Given the description of an element on the screen output the (x, y) to click on. 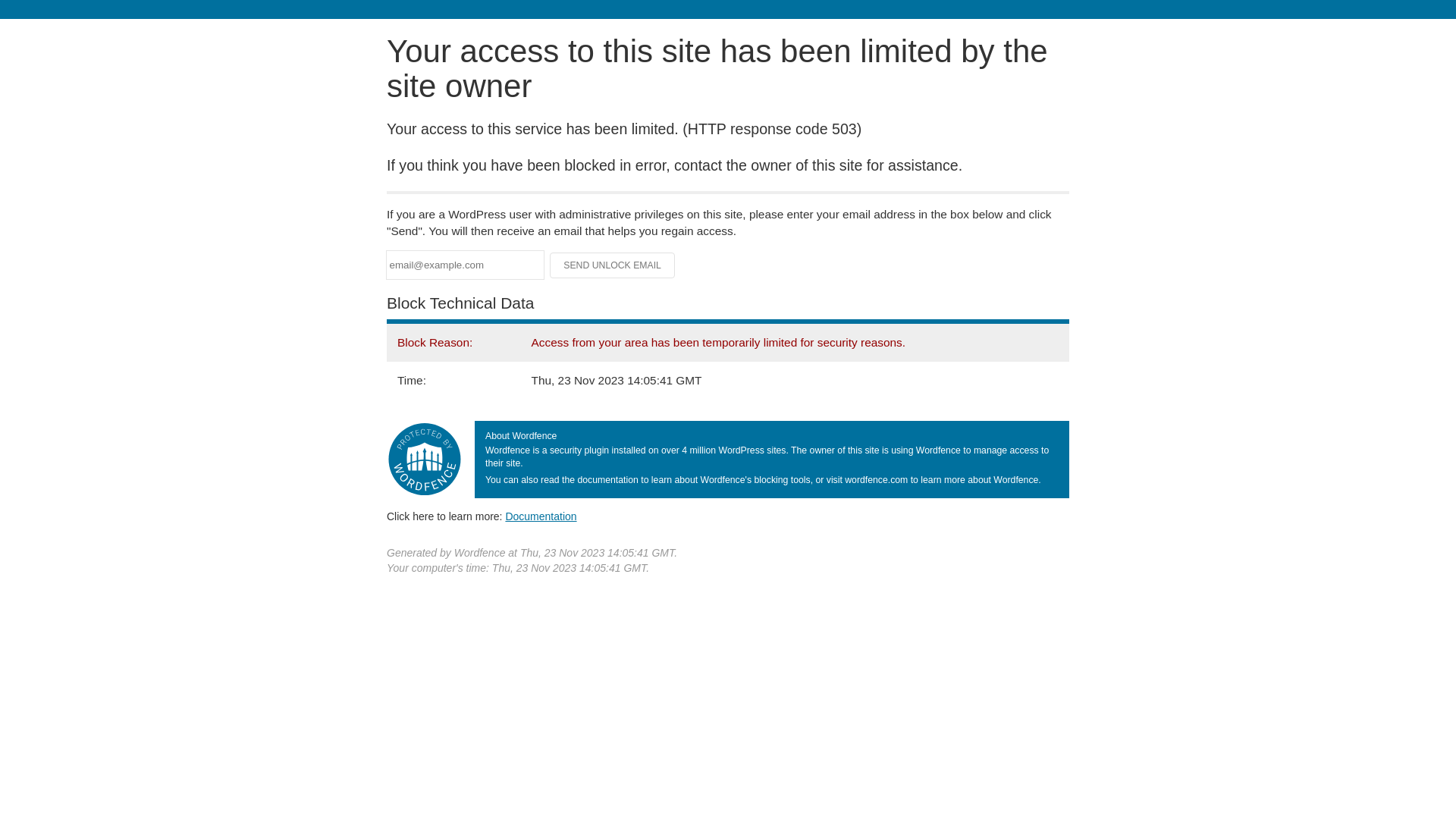
Send Unlock Email Element type: text (612, 265)
Documentation Element type: text (540, 516)
